Given the description of an element on the screen output the (x, y) to click on. 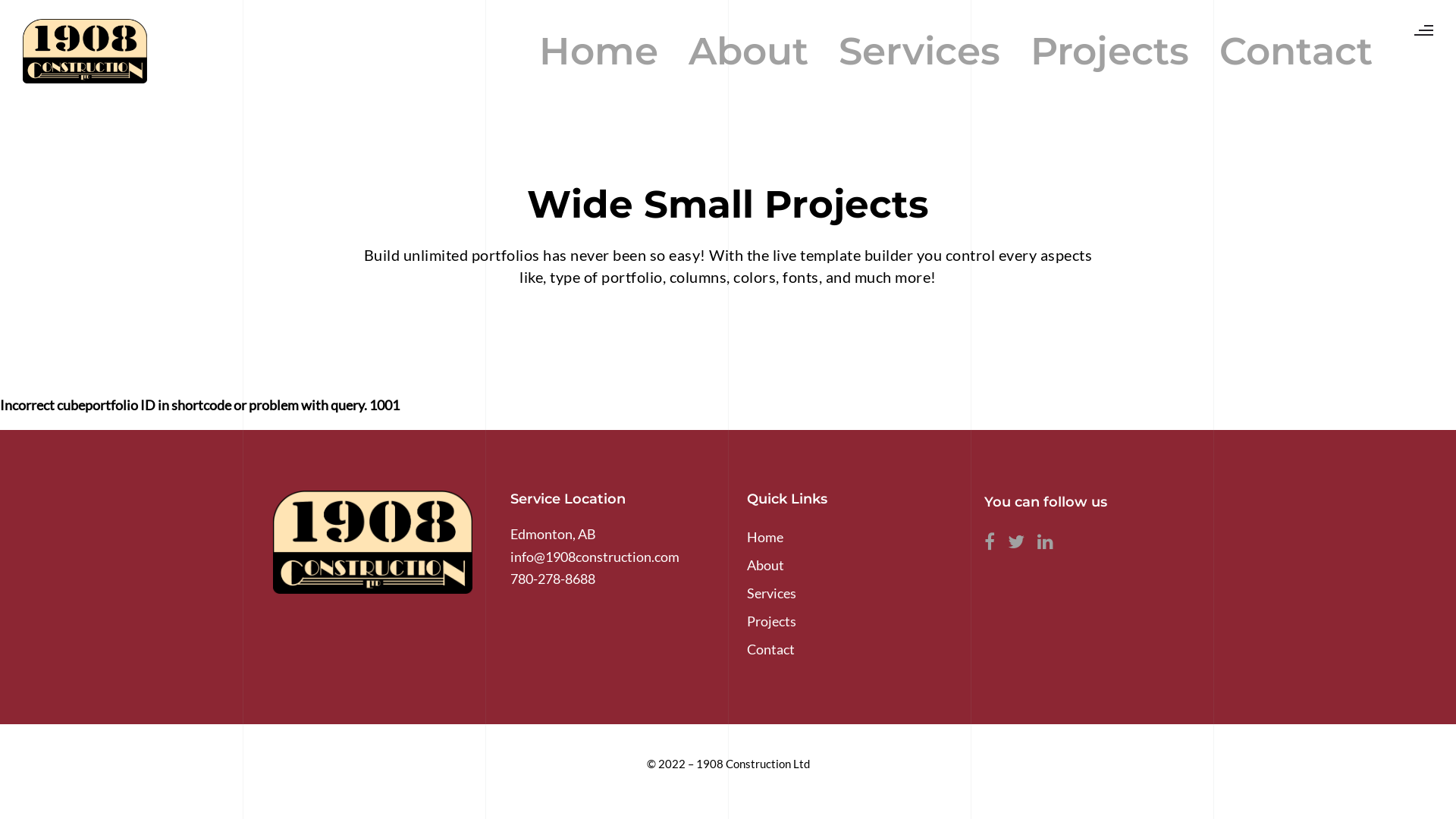
Services Element type: text (919, 51)
Home Element type: text (598, 51)
780-278-8688 Element type: text (551, 578)
info@1908construction.com Element type: text (593, 555)
Home Element type: text (764, 536)
Twitter Element type: hover (1019, 544)
Sidebar Menu Controller Element type: hover (1416, 32)
About Element type: text (748, 51)
Contact Element type: text (1295, 51)
Contact Element type: text (770, 648)
About Element type: text (765, 564)
LinkedIn Element type: hover (1049, 544)
Facebook Element type: hover (994, 544)
Services Element type: text (771, 592)
Projects Element type: text (1109, 51)
Projects Element type: text (771, 620)
